Given the description of an element on the screen output the (x, y) to click on. 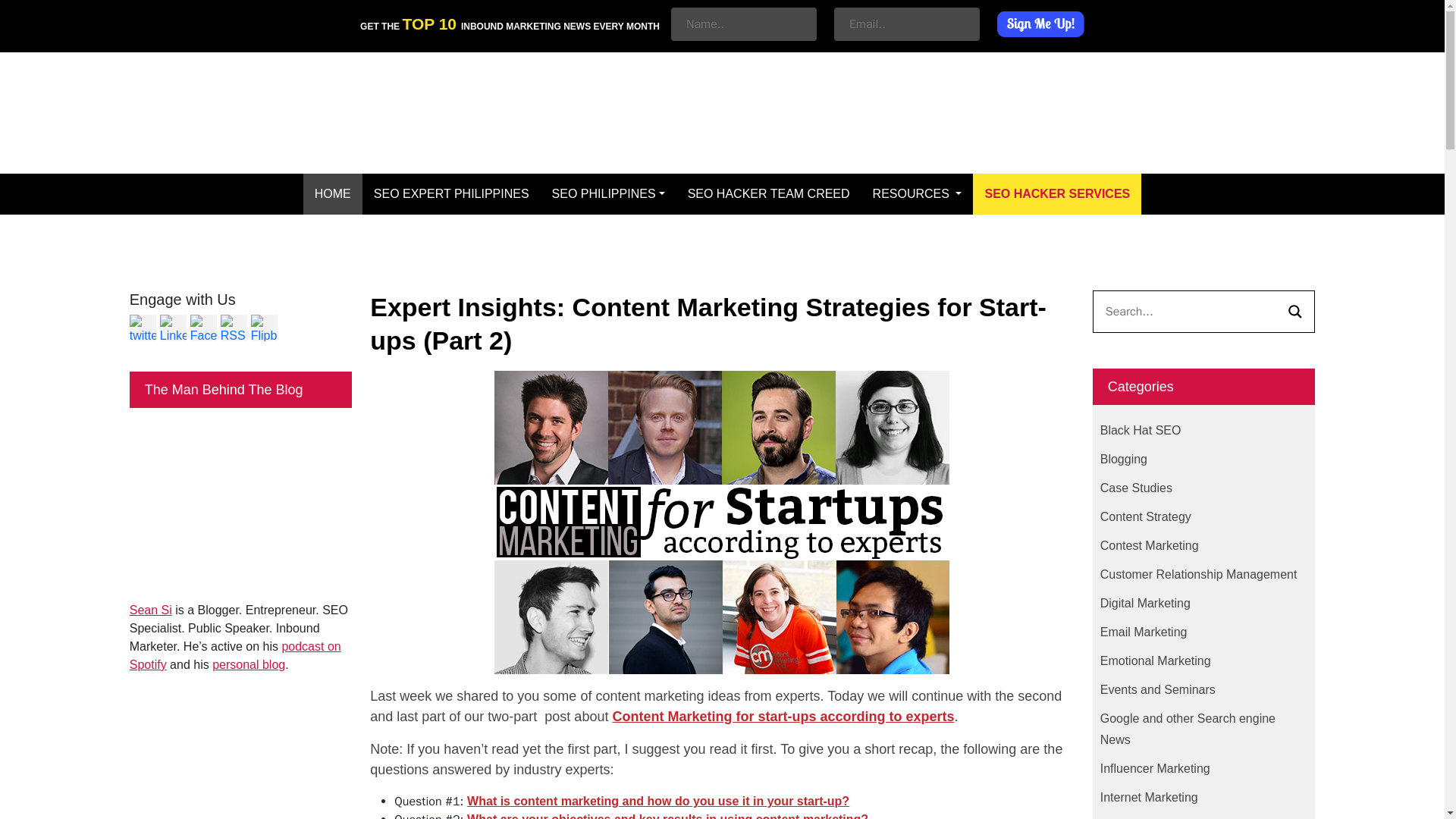
SEO HACKER TEAM CREED (769, 193)
personal blog (248, 664)
RESOURCES (917, 193)
Content Marketing for Start-ups According to Experts (782, 716)
SEO HACKER SERVICES (1056, 193)
Content Marketing for Start-ups According to Experts (657, 800)
Content Marketing for Start-ups According to Experts (667, 816)
HOME (332, 193)
SEO PHILIPPINES (608, 193)
Sean Si (150, 609)
